Given the description of an element on the screen output the (x, y) to click on. 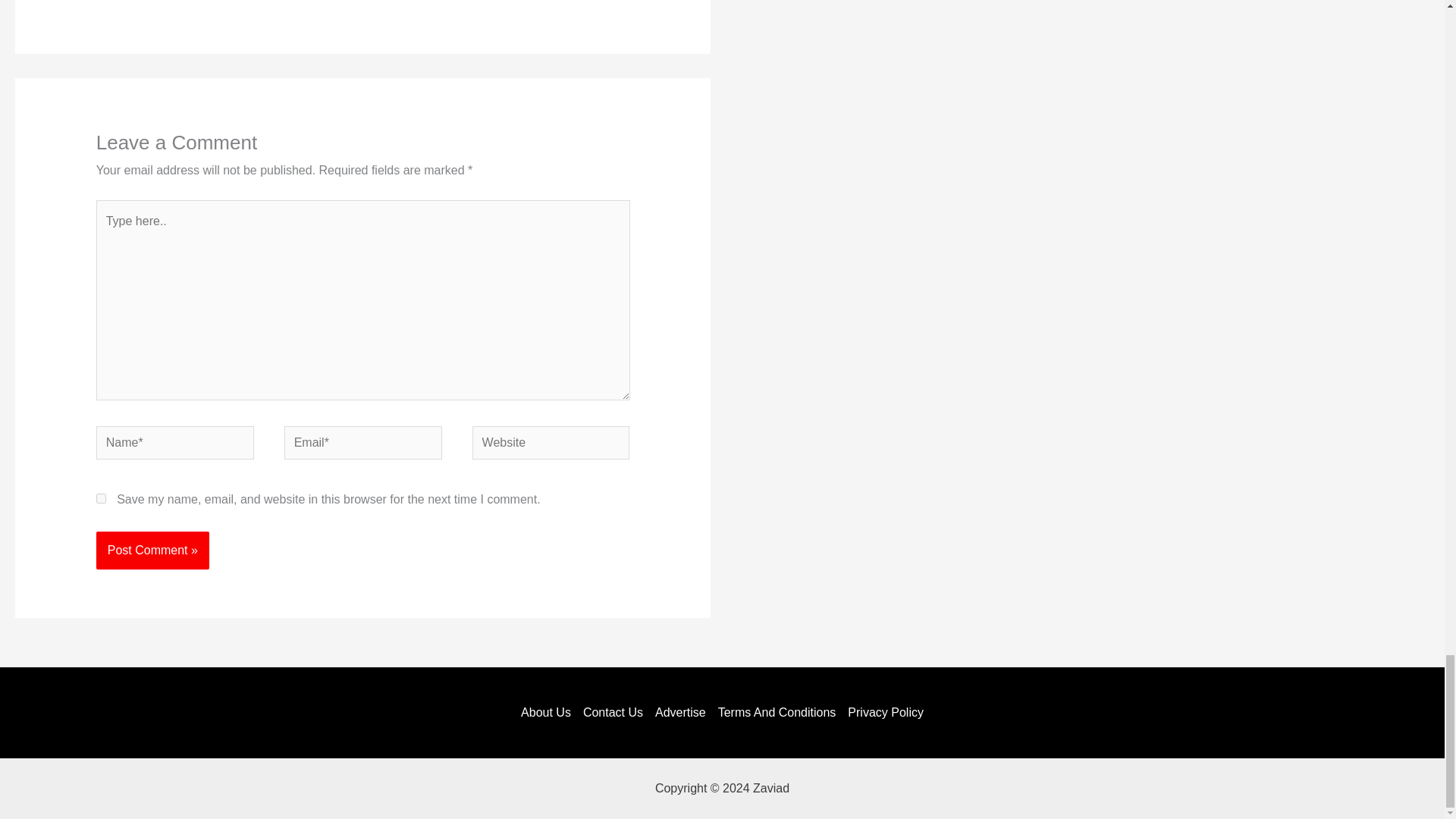
yes (101, 498)
